Given the description of an element on the screen output the (x, y) to click on. 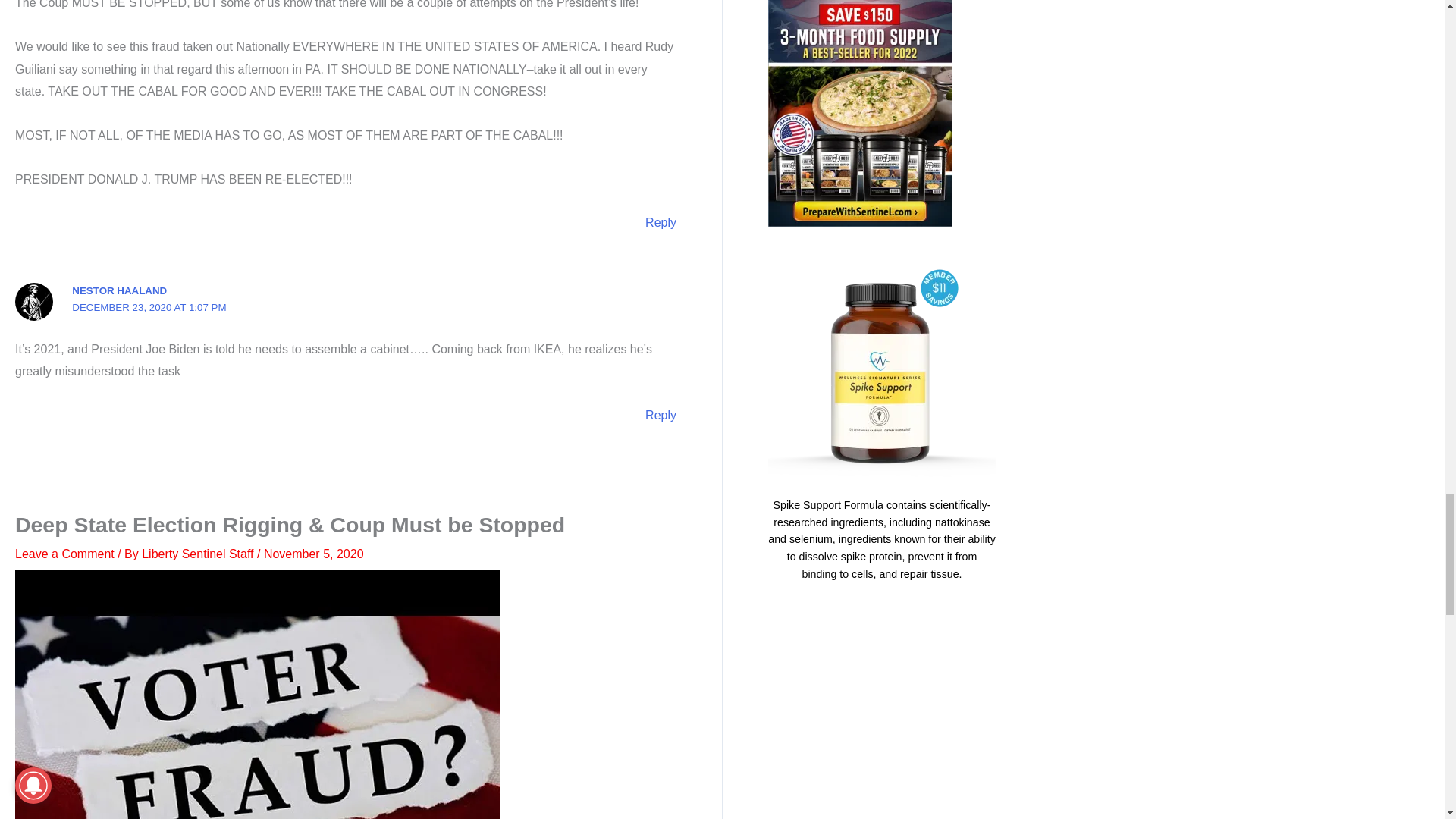
View all posts by Liberty Sentinel Staff (199, 553)
